Given the description of an element on the screen output the (x, y) to click on. 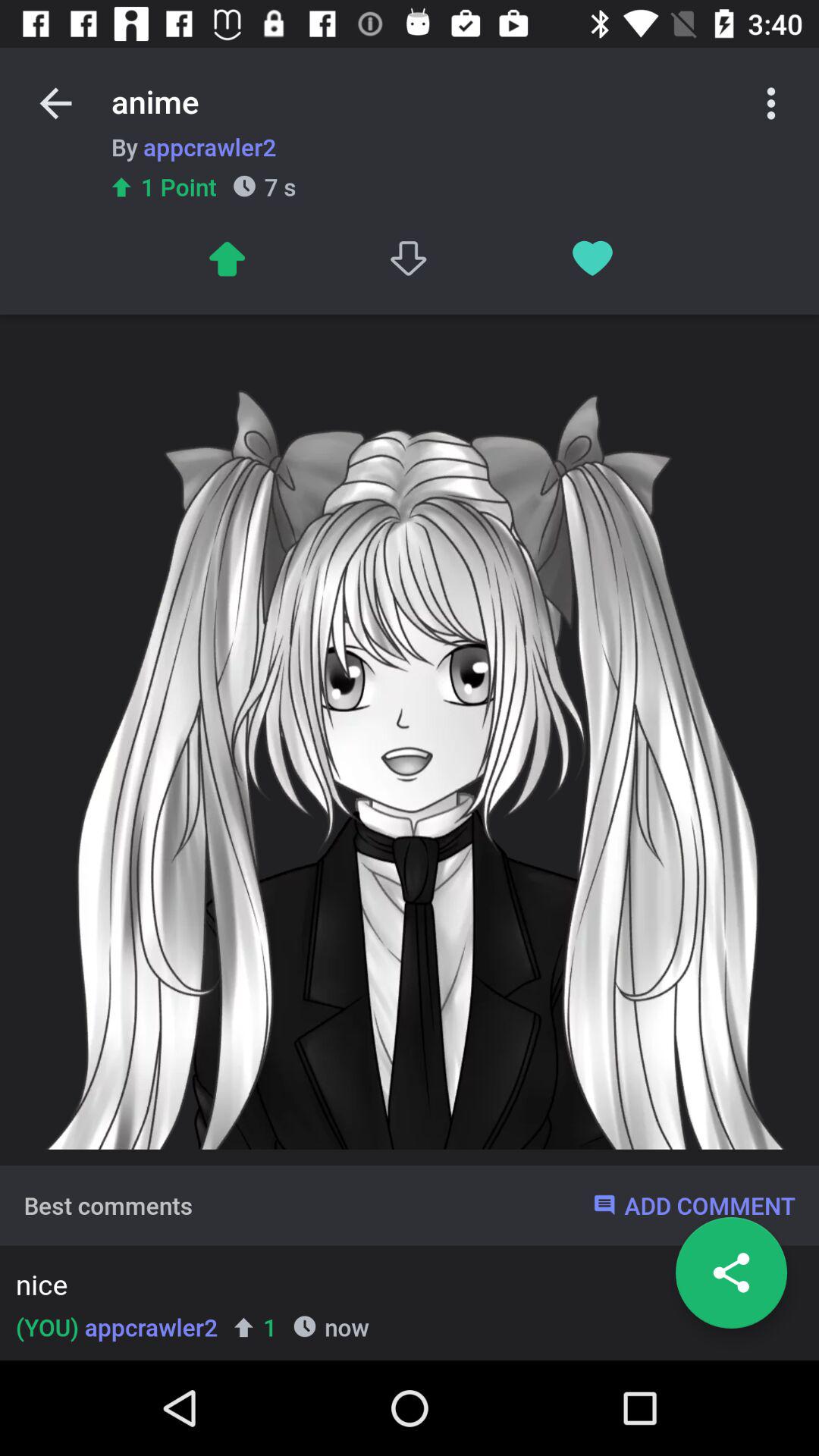
select item below anime item (193, 146)
